Given the description of an element on the screen output the (x, y) to click on. 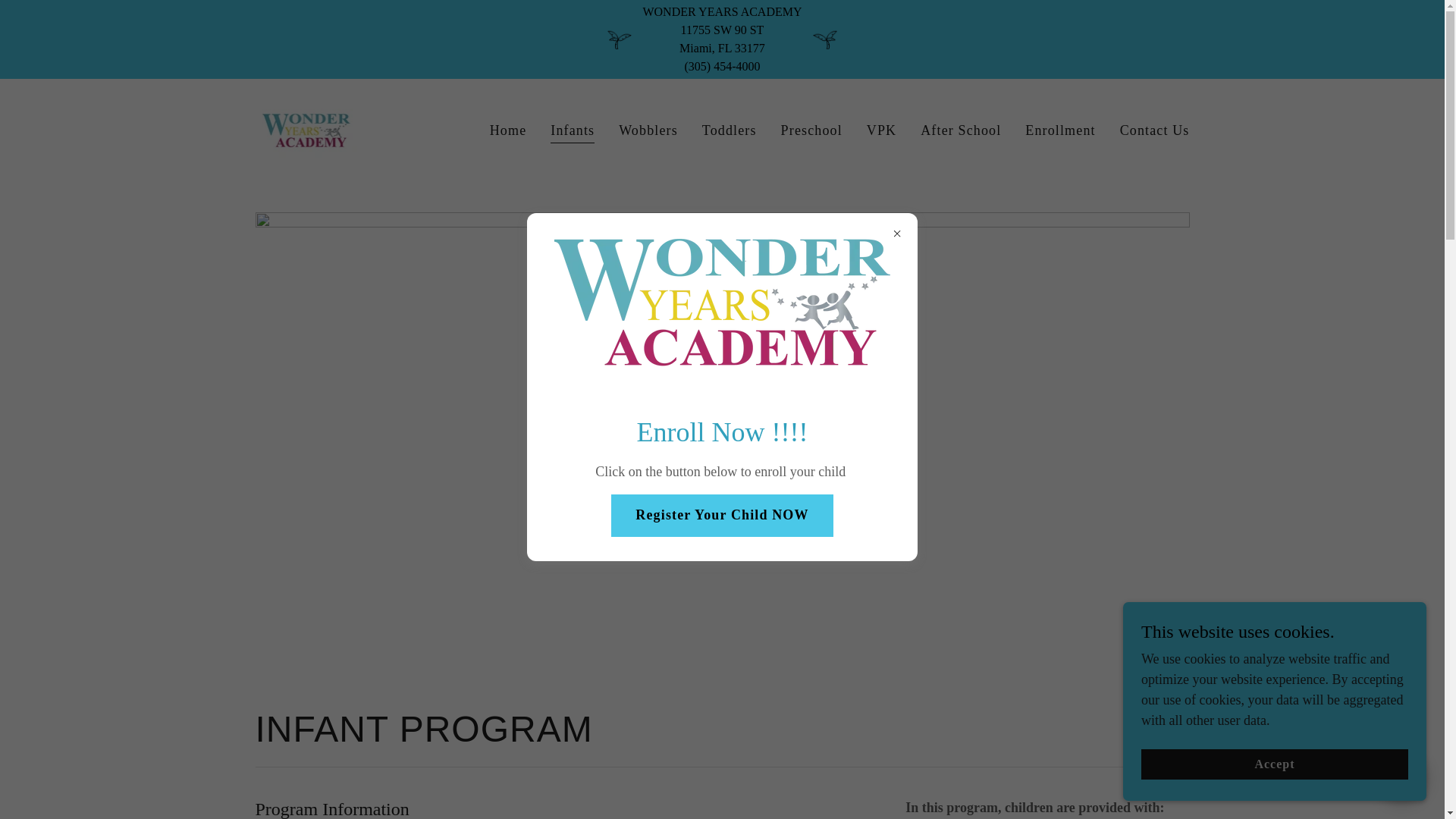
Enrollment (1059, 130)
Toddlers (729, 130)
Infants (572, 132)
Wobblers (648, 130)
Register Your Child NOW (721, 515)
After School (960, 130)
Preschool (811, 130)
Contact Us (1154, 130)
VPK (881, 130)
Home (507, 130)
